Given the description of an element on the screen output the (x, y) to click on. 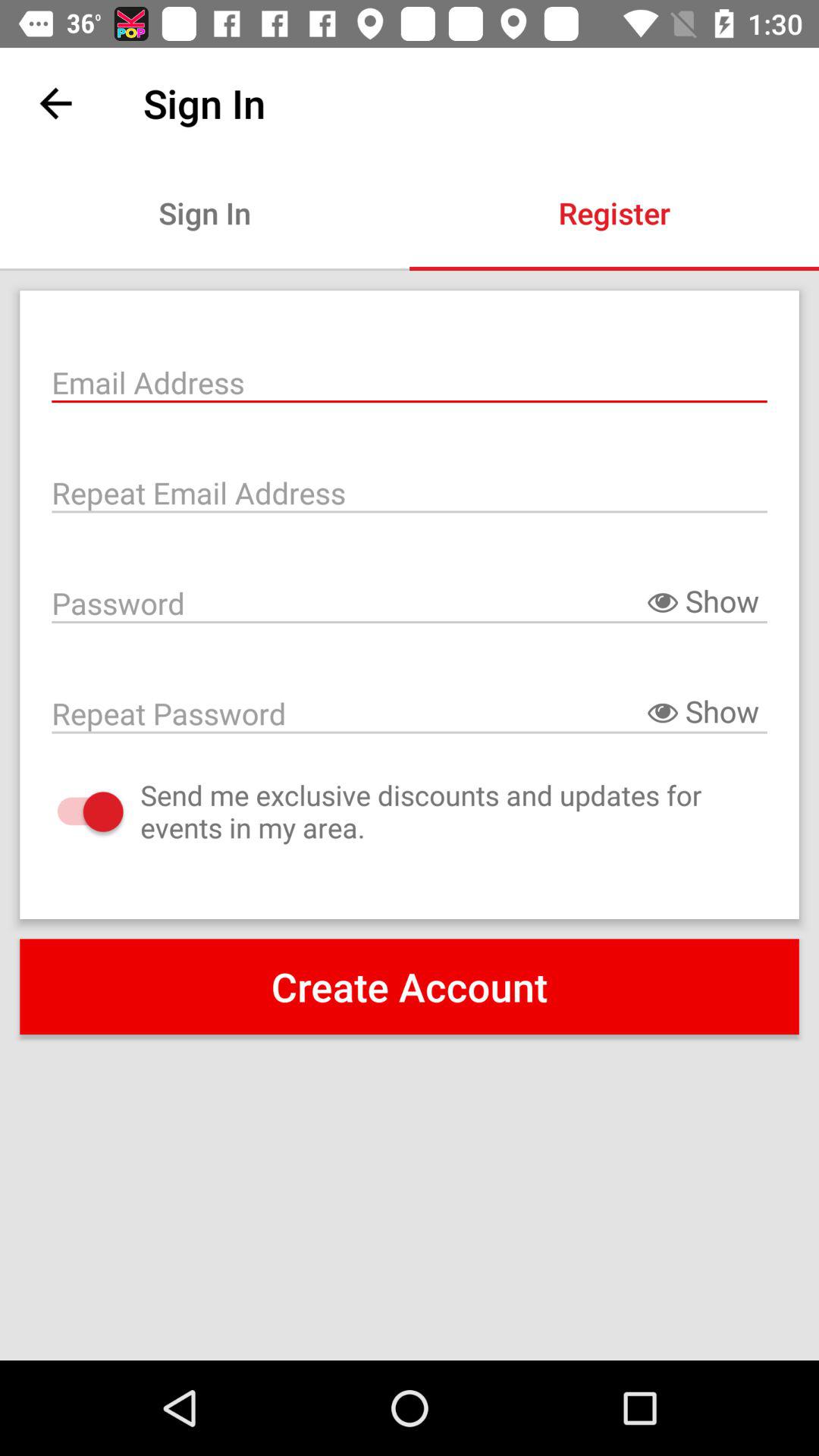
turn off the create account icon (409, 986)
